Given the description of an element on the screen output the (x, y) to click on. 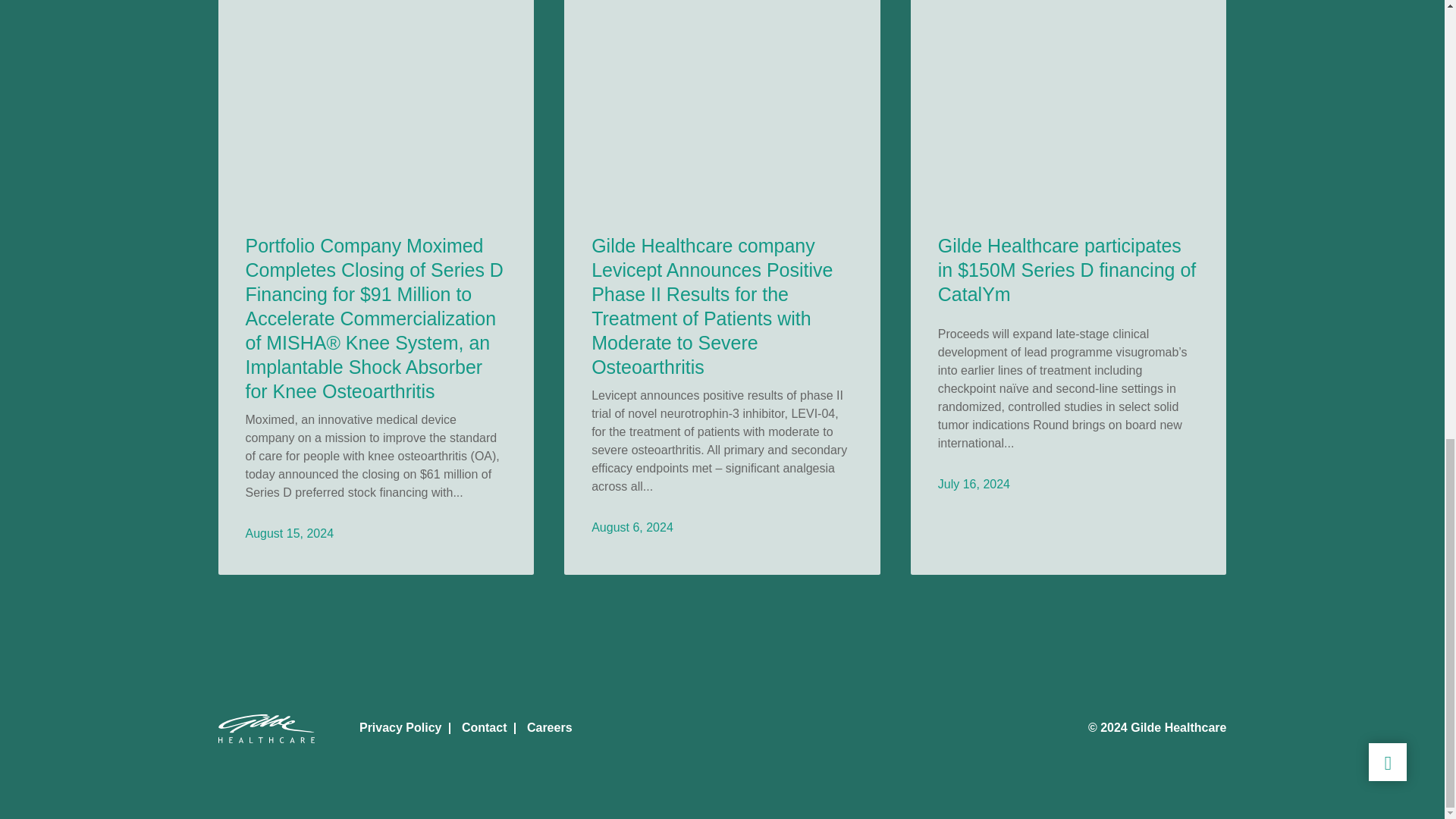
Careers (549, 727)
Contact (483, 727)
Privacy Policy (400, 727)
